Given the description of an element on the screen output the (x, y) to click on. 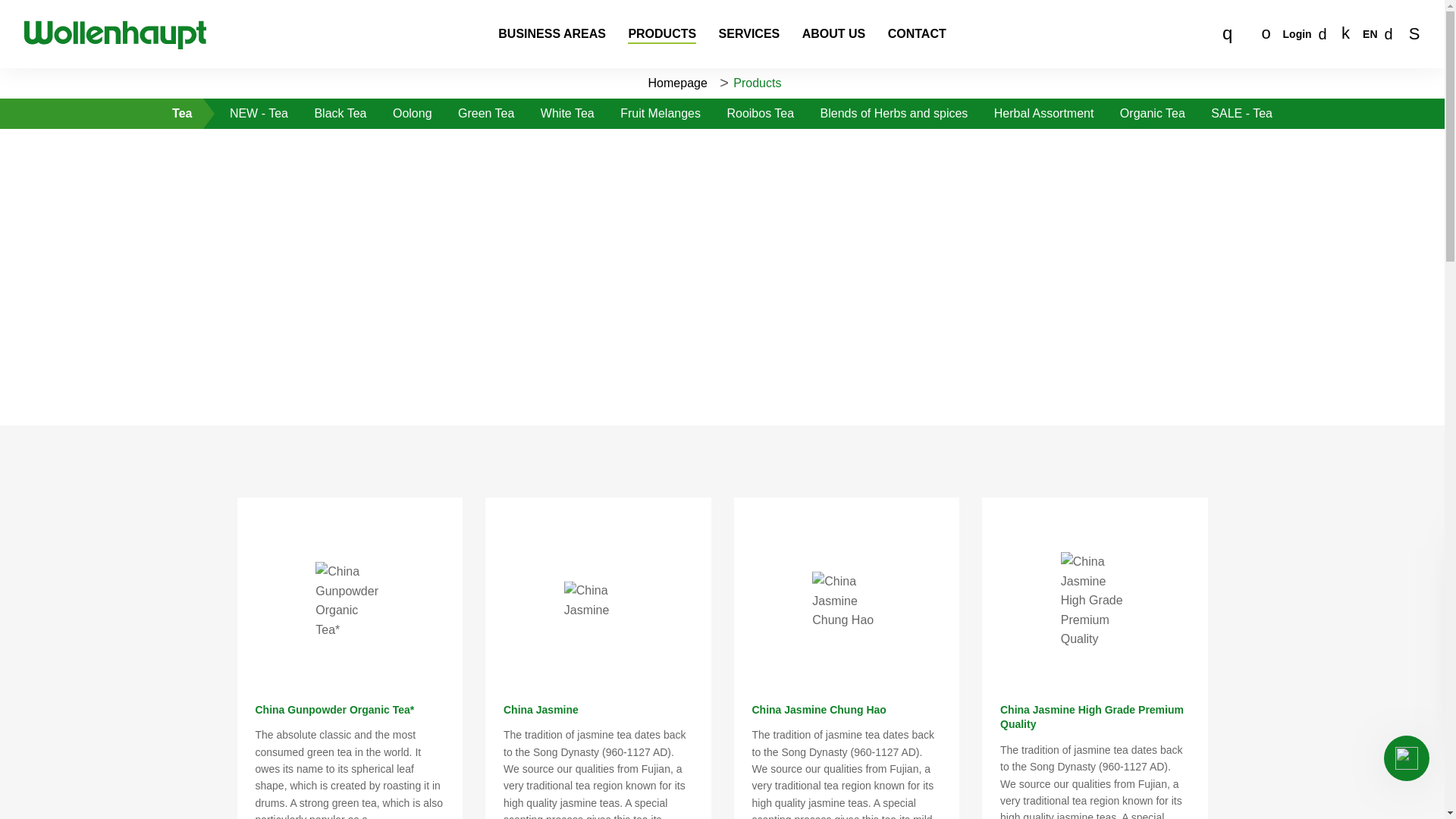
BUSINESS AREAS (551, 34)
PRODUCTS (661, 34)
China Jasmine Chung Hao (846, 600)
China Jasmine (597, 599)
